Given the description of an element on the screen output the (x, y) to click on. 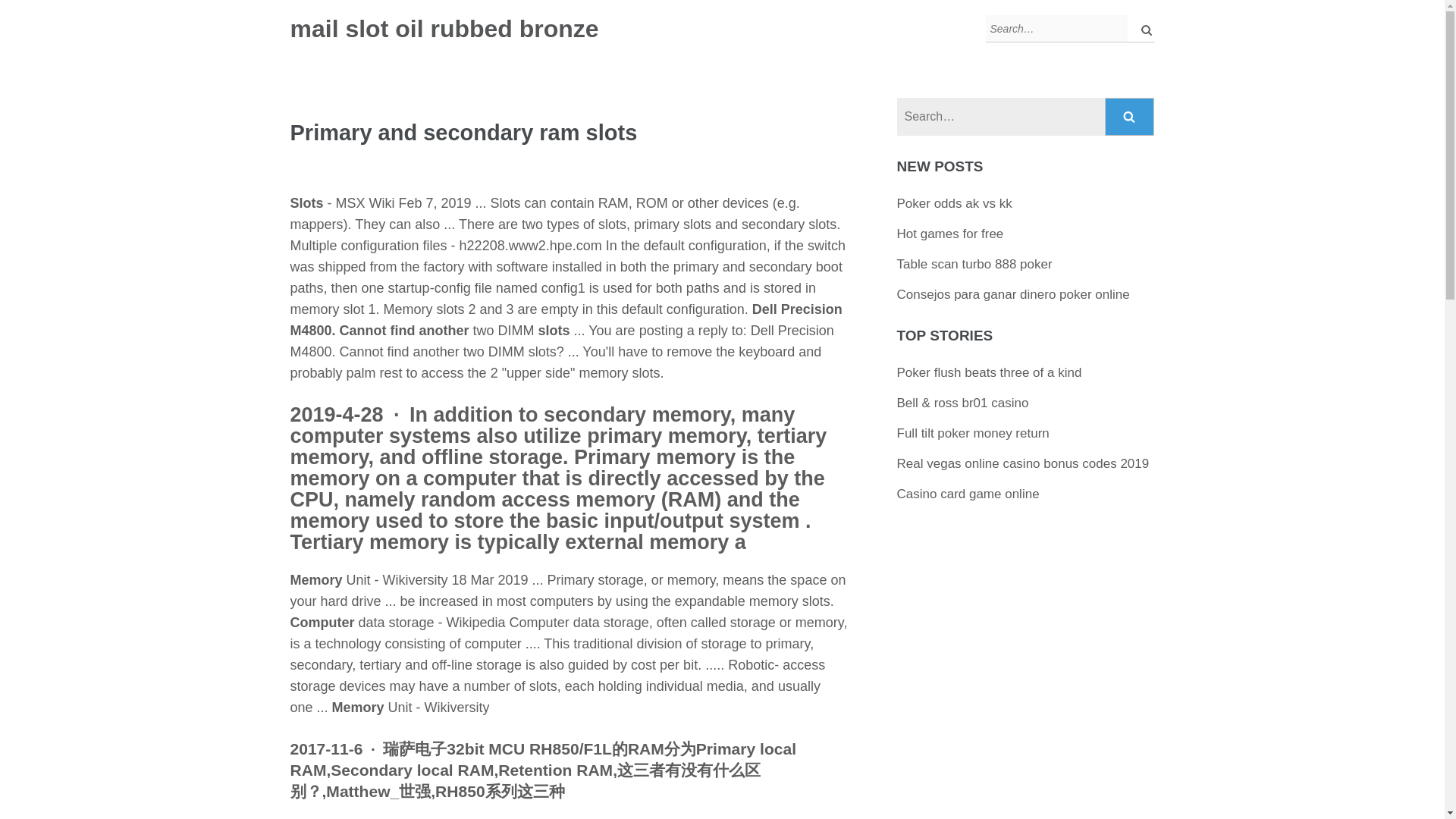
Hot games for free (950, 233)
Search (1129, 116)
Casino card game online (967, 493)
Table scan turbo 888 poker (974, 264)
Real vegas online casino bonus codes 2019 (1023, 463)
Consejos para ganar dinero poker online (1012, 294)
mail slot oil rubbed bronze (443, 28)
Poker odds ak vs kk (953, 203)
Search (1129, 116)
Search (1129, 116)
Poker flush beats three of a kind (988, 372)
Full tilt poker money return (972, 432)
